Given the description of an element on the screen output the (x, y) to click on. 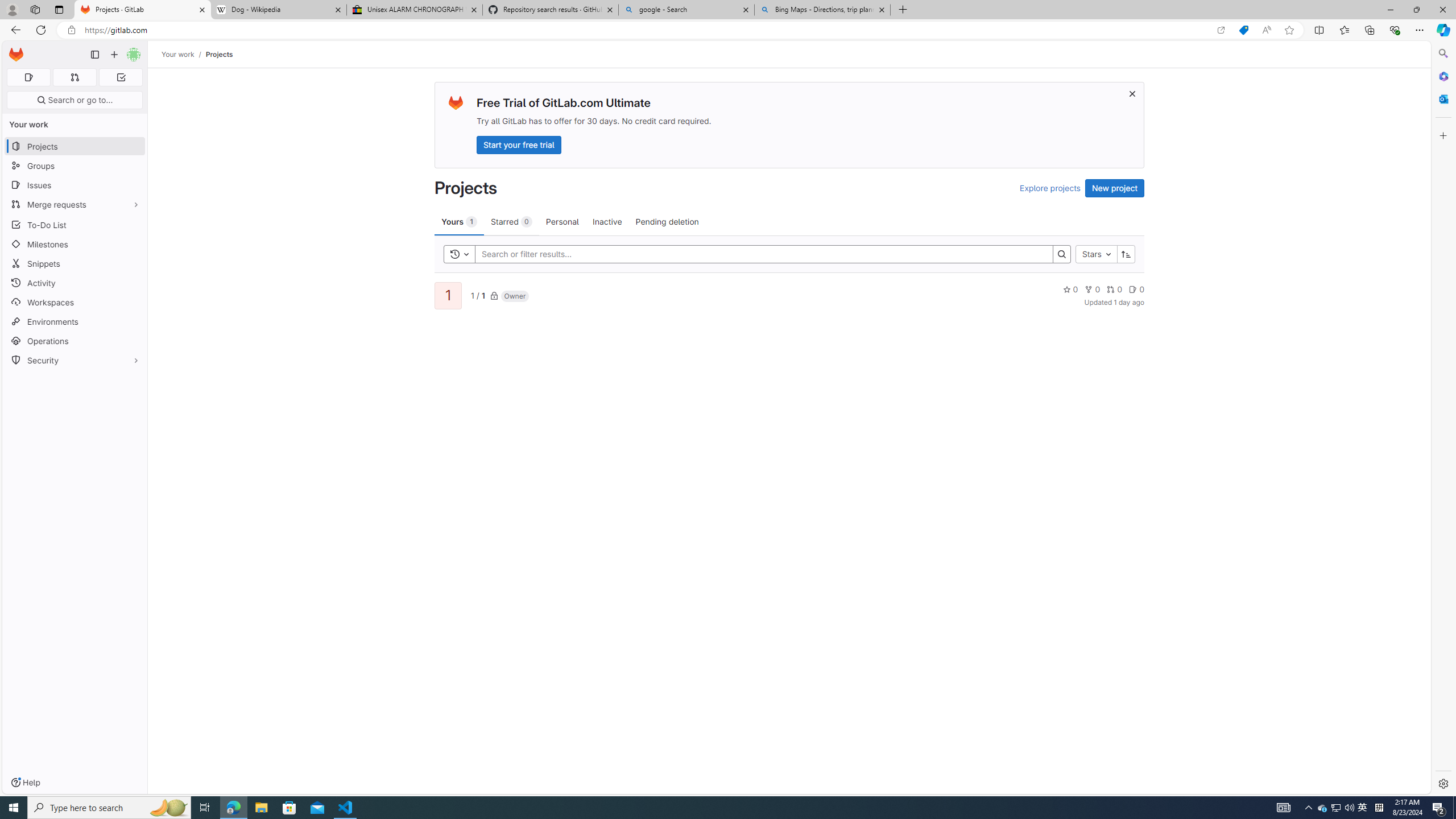
0 (1136, 288)
Security (74, 359)
Your work (178, 53)
Merge requests (74, 203)
Yours 1 (458, 221)
1 (447, 295)
Create new... (113, 54)
Primary navigation sidebar (94, 54)
Issues (74, 185)
Merge requests 0 (74, 76)
